Given the description of an element on the screen output the (x, y) to click on. 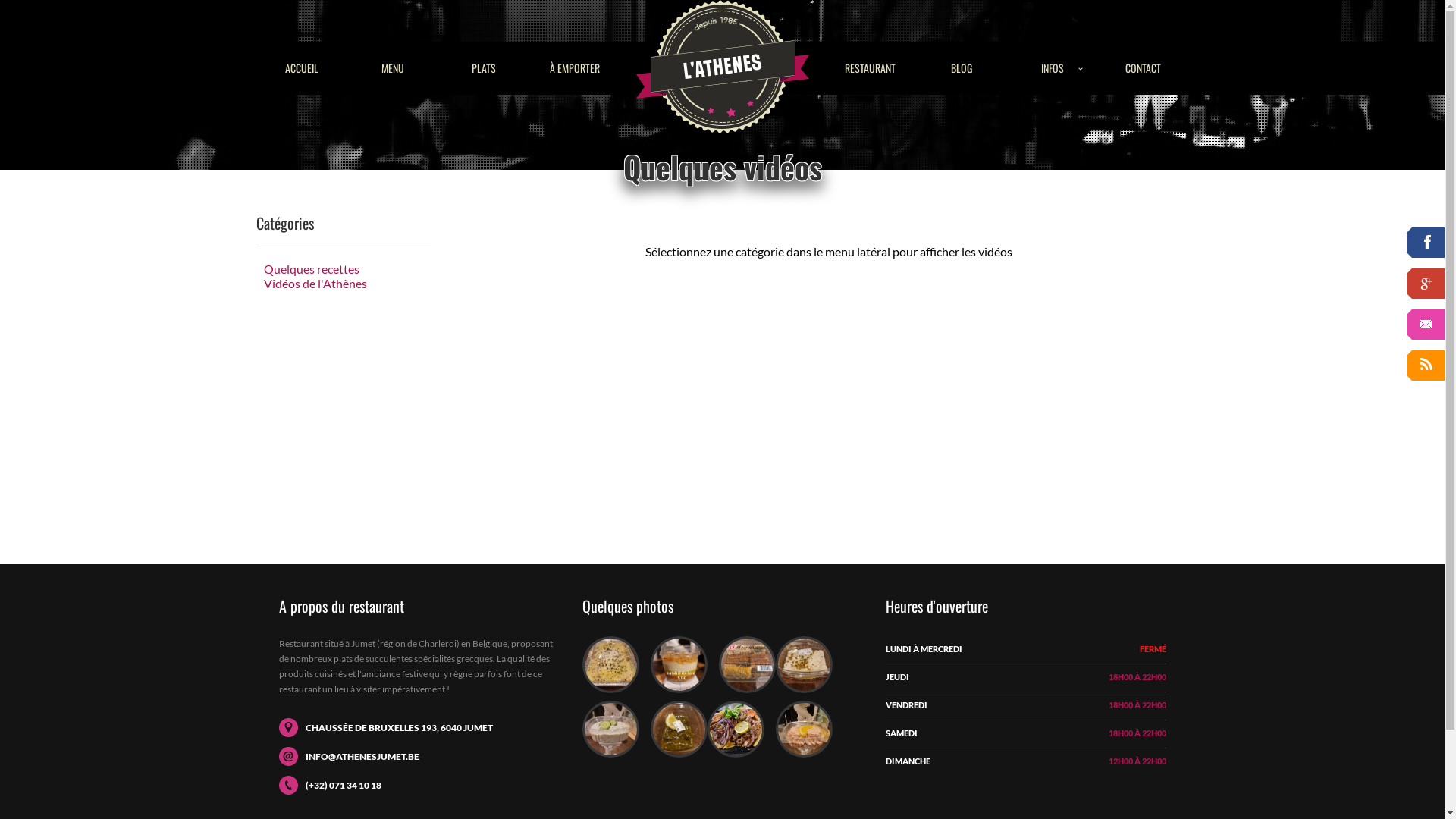
CONTACT Element type: text (1143, 67)
BLOG Element type: text (961, 67)
ACCUEIL Element type: text (301, 67)
Quelques recettes Element type: text (307, 268)
INFOS Element type: text (1052, 67)
MENU Element type: text (392, 67)
PLATS Element type: text (483, 67)
RESTAURANT Element type: text (870, 67)
